Given the description of an element on the screen output the (x, y) to click on. 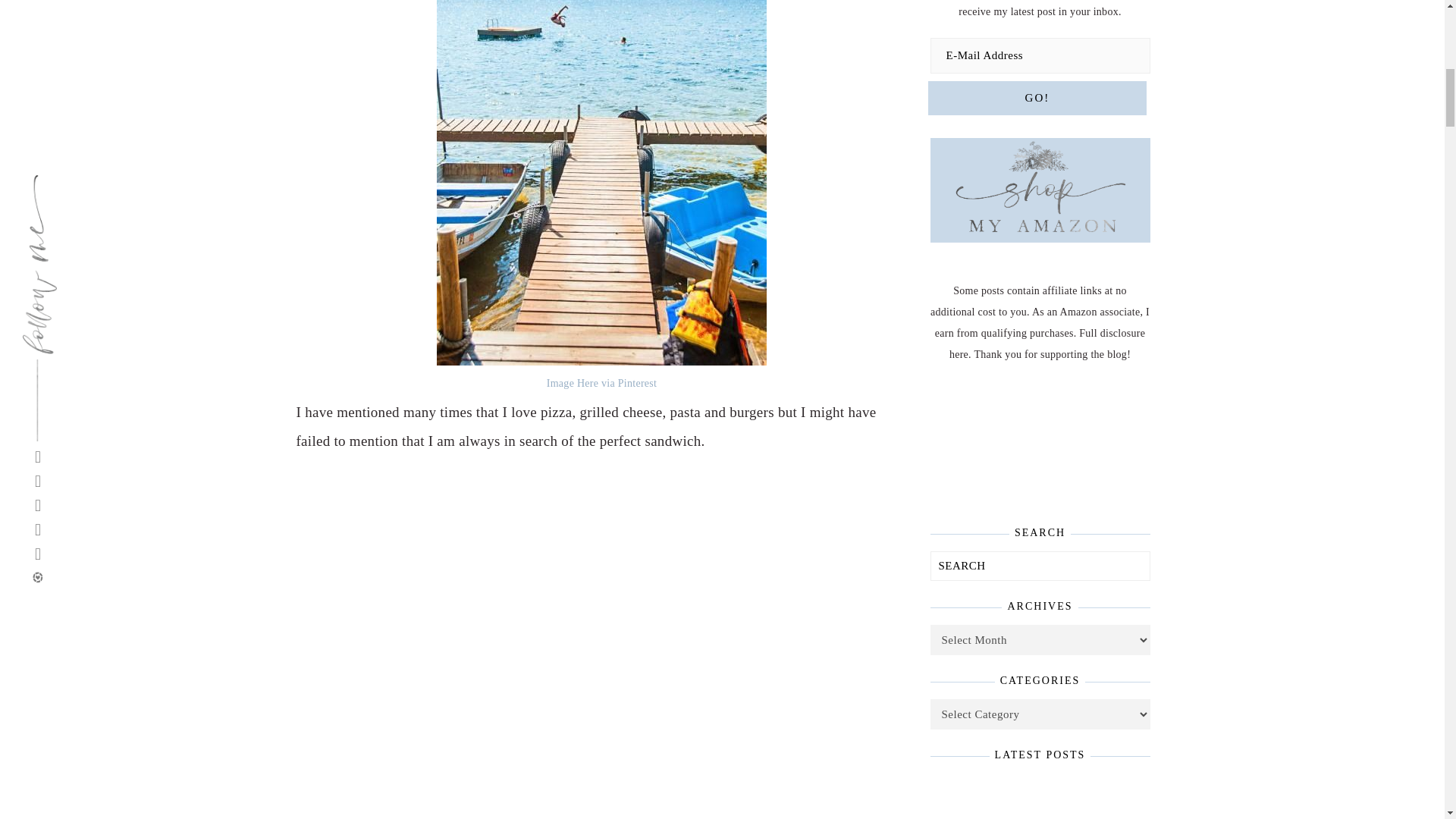
Go! (1036, 98)
